Given the description of an element on the screen output the (x, y) to click on. 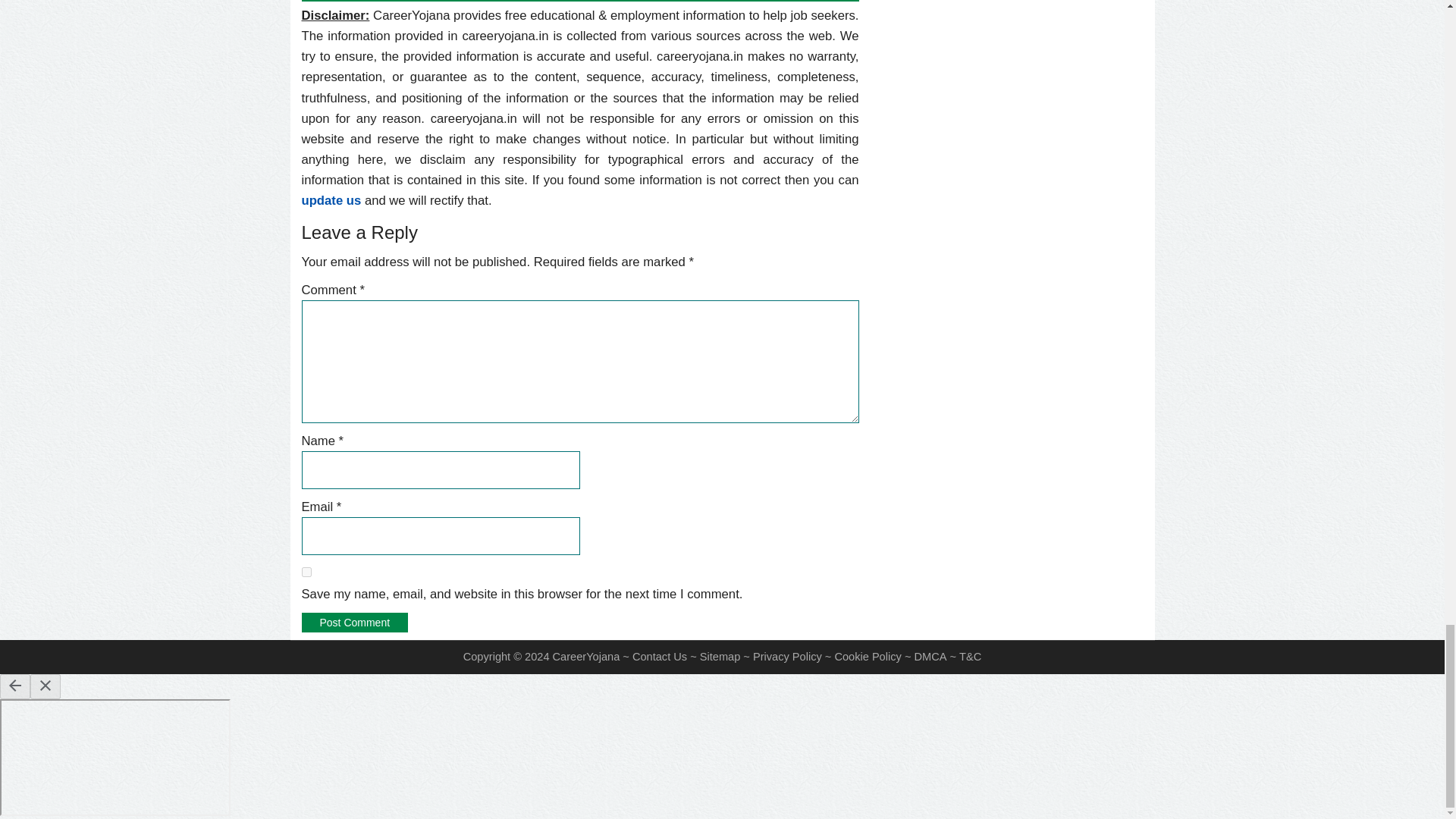
Post Comment (355, 622)
yes (306, 572)
Post Comment (355, 622)
update us (331, 200)
